Given the description of an element on the screen output the (x, y) to click on. 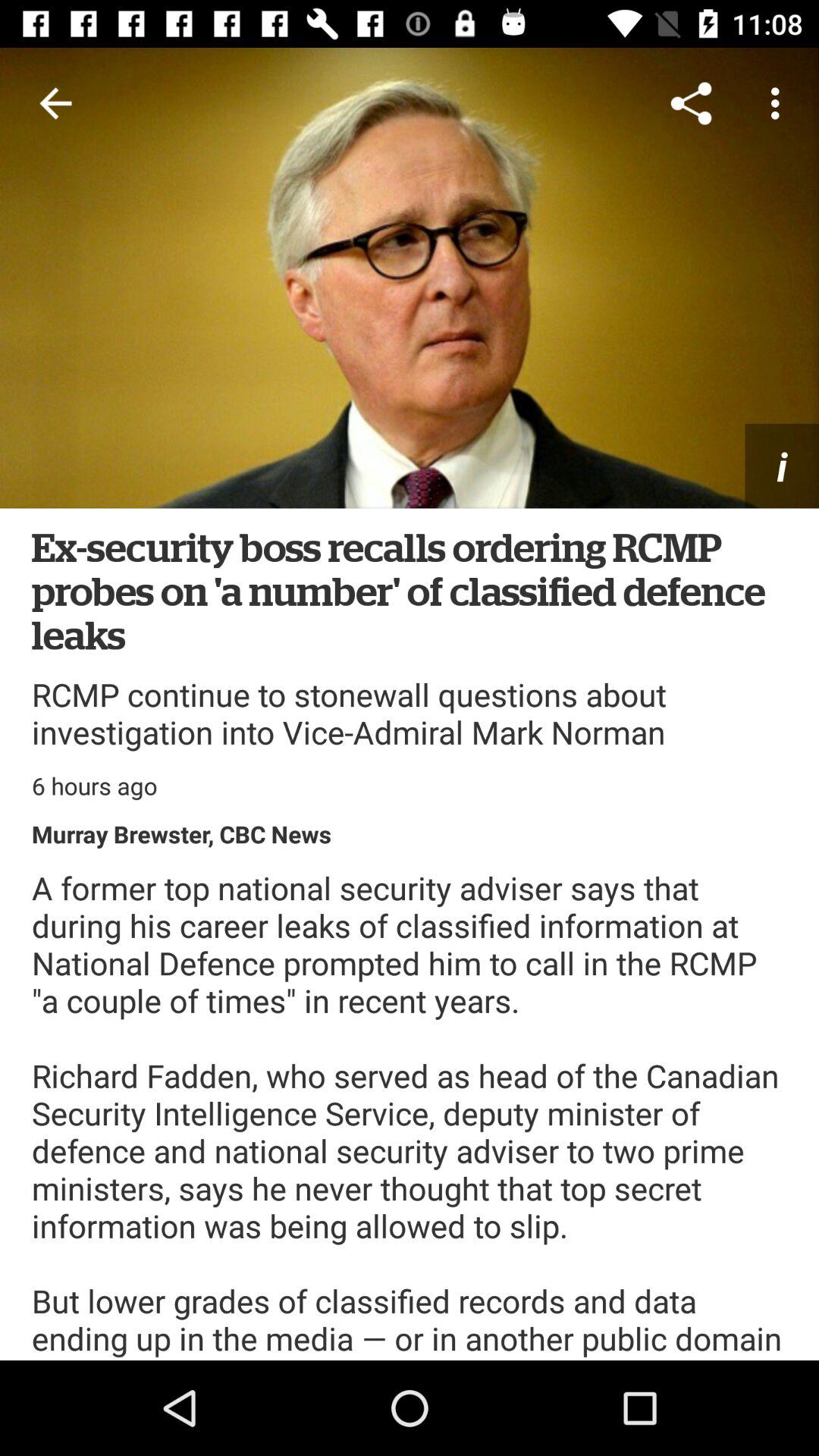
press item above the murray brewster cbc (94, 785)
